Given the description of an element on the screen output the (x, y) to click on. 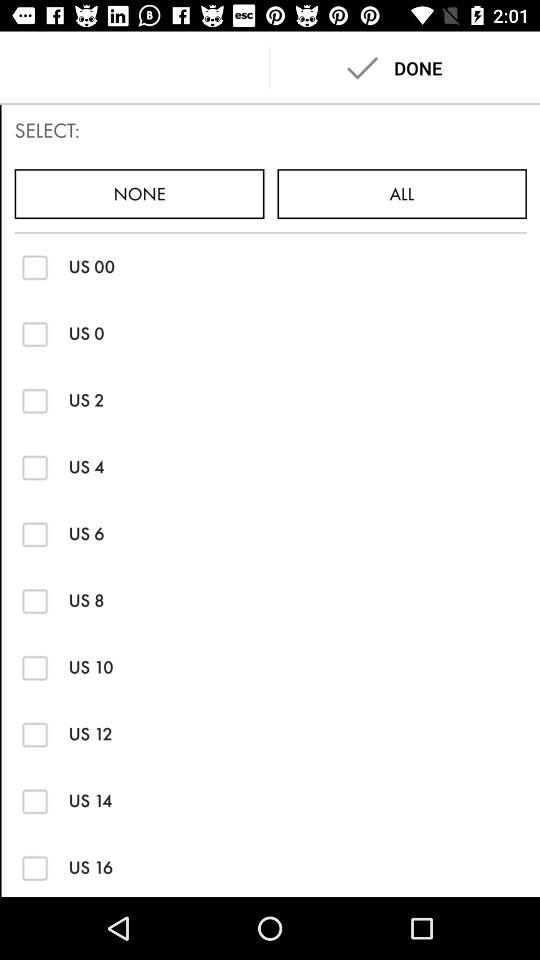
select size 12 option (34, 734)
